Given the description of an element on the screen output the (x, y) to click on. 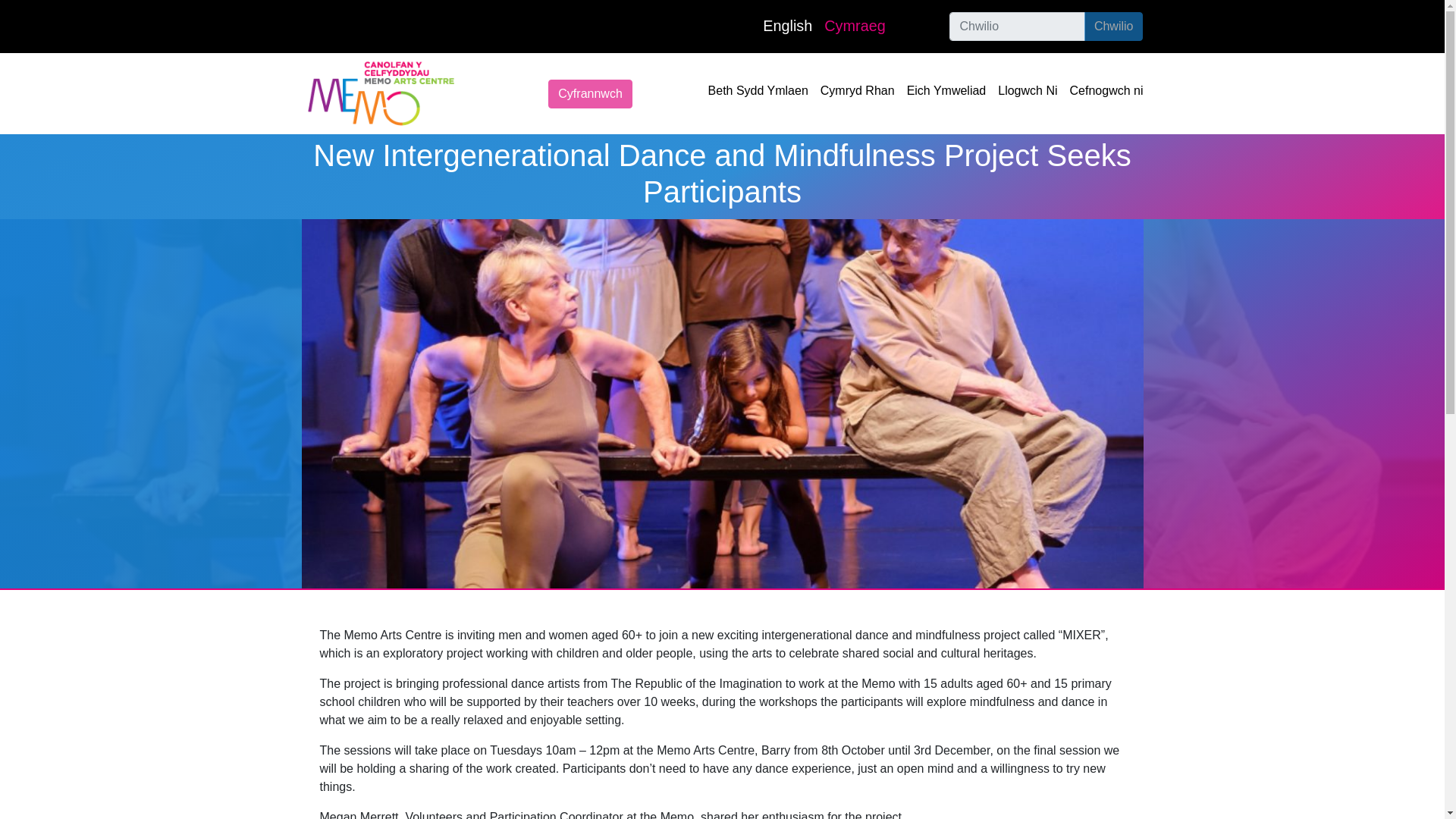
Cyfrannwch (589, 92)
English (787, 25)
Cyfrannwch (589, 93)
Eich Ymweliad (947, 90)
Cefnogwch ni (1106, 90)
Chwilio (1113, 26)
Cymryd Rhan (858, 90)
Llogwch Ni (1027, 90)
Beth Sydd Ymlaen (757, 90)
